Given the description of an element on the screen output the (x, y) to click on. 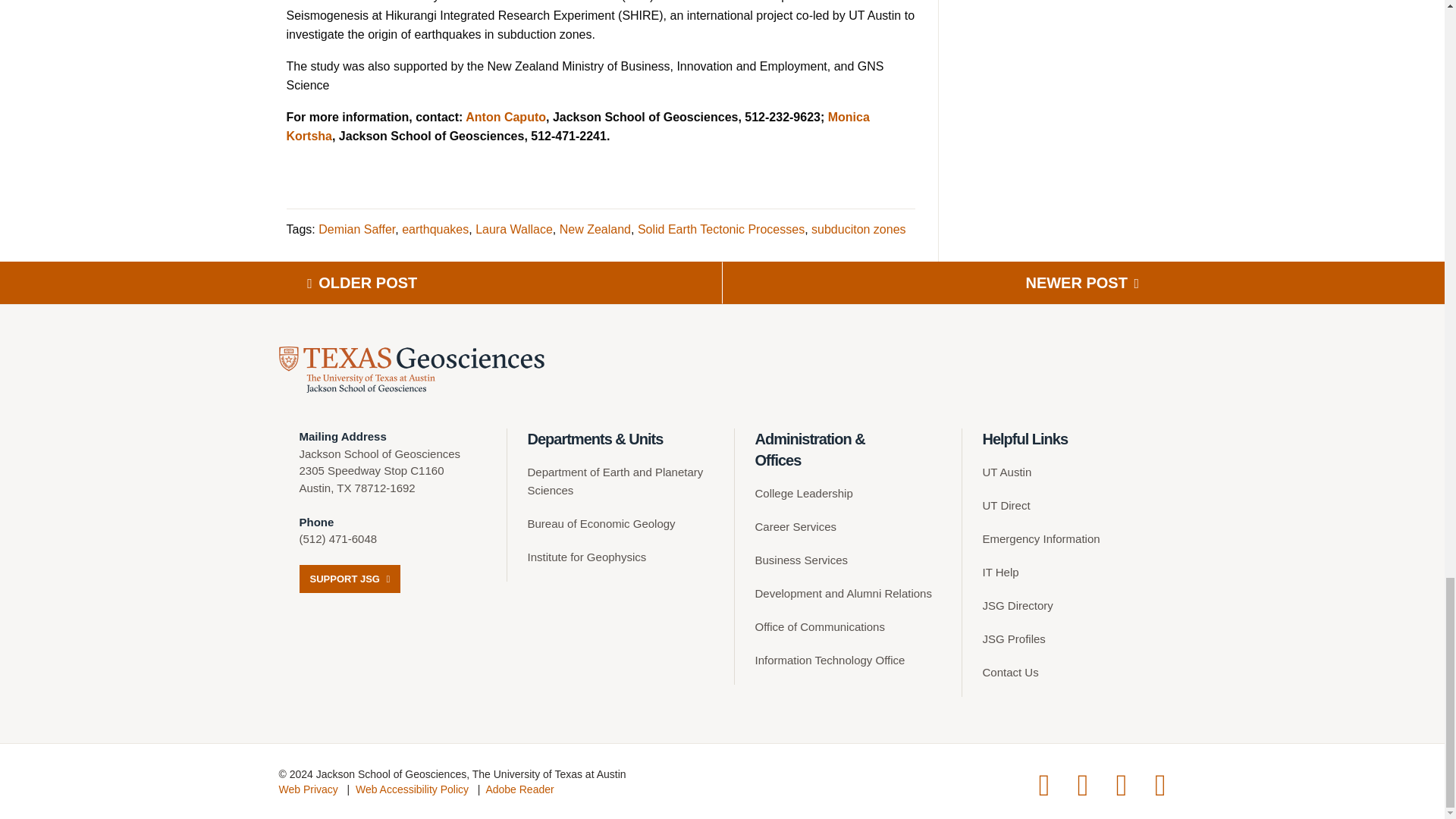
Jackson School of Geosciences (411, 369)
